Given the description of an element on the screen output the (x, y) to click on. 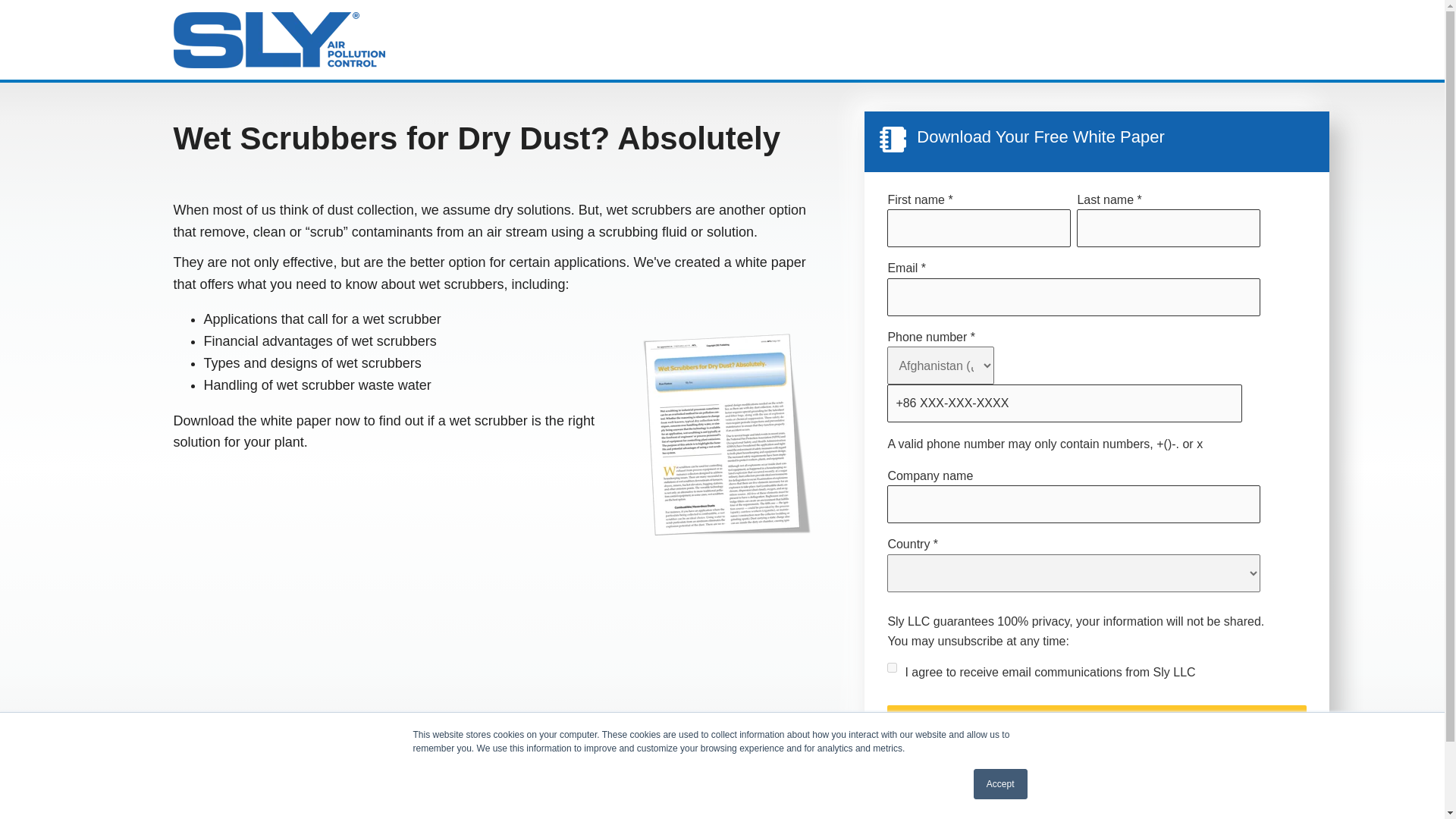
SLY a division of CPEG (279, 39)
agenda-xxl (892, 139)
Download Now! (1096, 725)
Download Now! (1096, 725)
true (891, 667)
Accept (1000, 784)
